Given the description of an element on the screen output the (x, y) to click on. 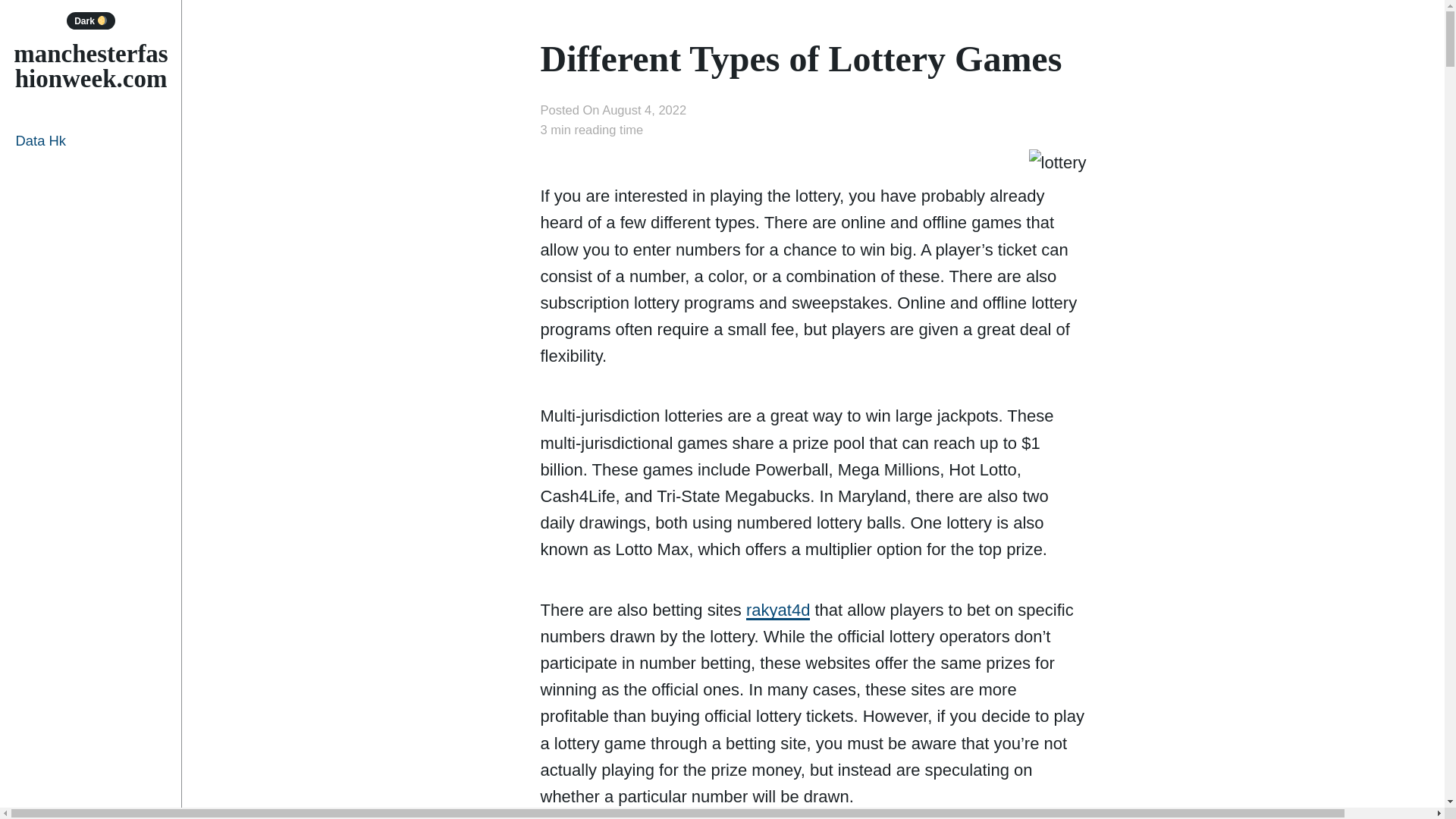
Data Hk (90, 140)
manchesterfashionweek.com (90, 66)
rakyat4d (777, 609)
